Given the description of an element on the screen output the (x, y) to click on. 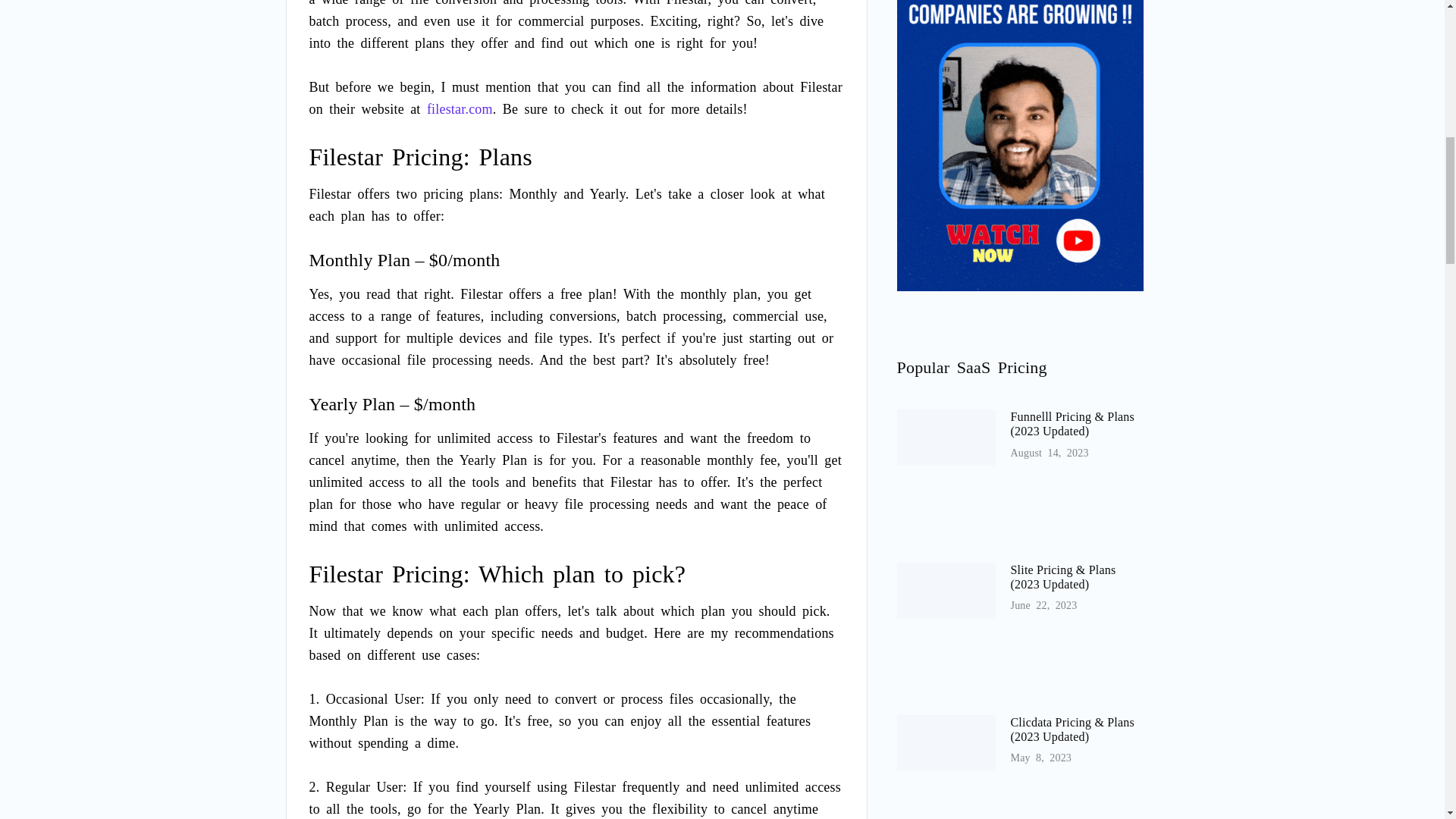
filestar.com (459, 109)
